Given the description of an element on the screen output the (x, y) to click on. 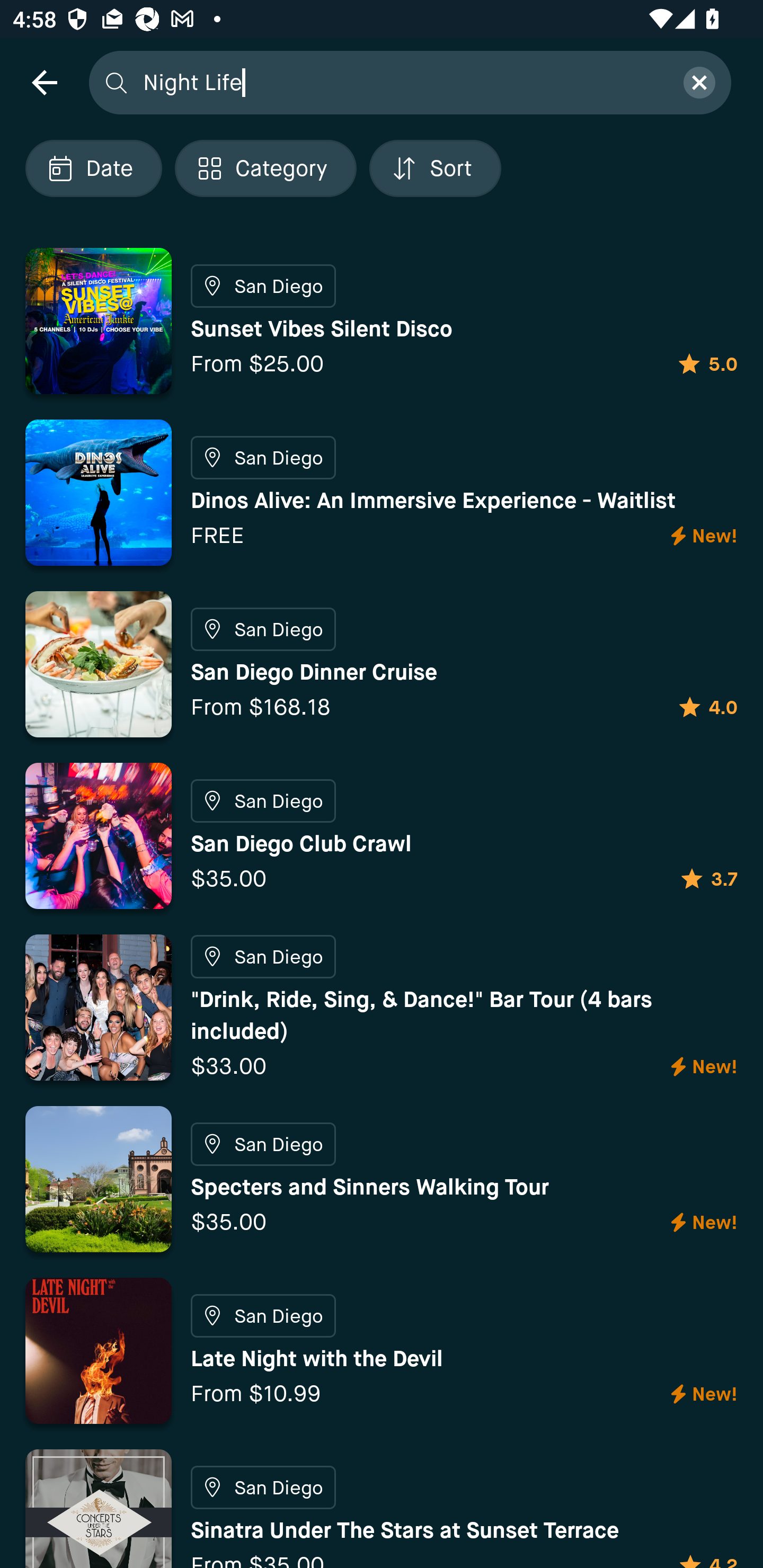
navigation icon (44, 81)
Night Life (402, 81)
Localized description Date (93, 168)
Localized description Category (265, 168)
Localized description Sort (435, 168)
